Given the description of an element on the screen output the (x, y) to click on. 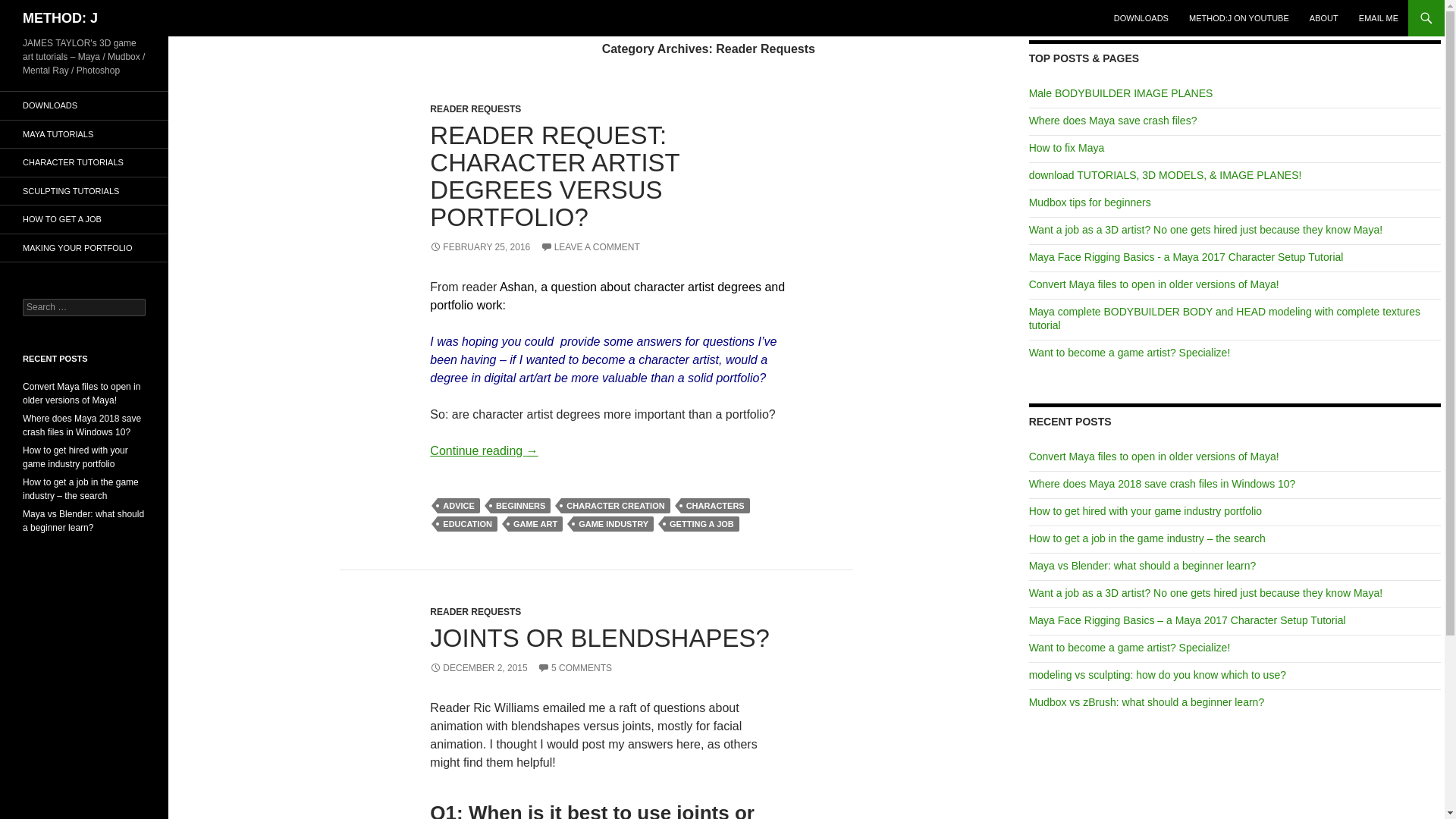
GAME ART (535, 523)
LEAVE A COMMENT (590, 246)
GETTING A JOB (701, 523)
READER REQUESTS (475, 109)
CHARACTERS (715, 505)
FEBRUARY 25, 2016 (479, 246)
GAME INDUSTRY (613, 523)
CHARACTER CREATION (614, 505)
5 COMMENTS (574, 667)
READER REQUESTS (475, 611)
How to fix Maya (1067, 147)
METHOD:J ON YOUTUBE (1238, 18)
BEGINNERS (520, 505)
EDUCATION (467, 523)
DECEMBER 2, 2015 (478, 667)
